Given the description of an element on the screen output the (x, y) to click on. 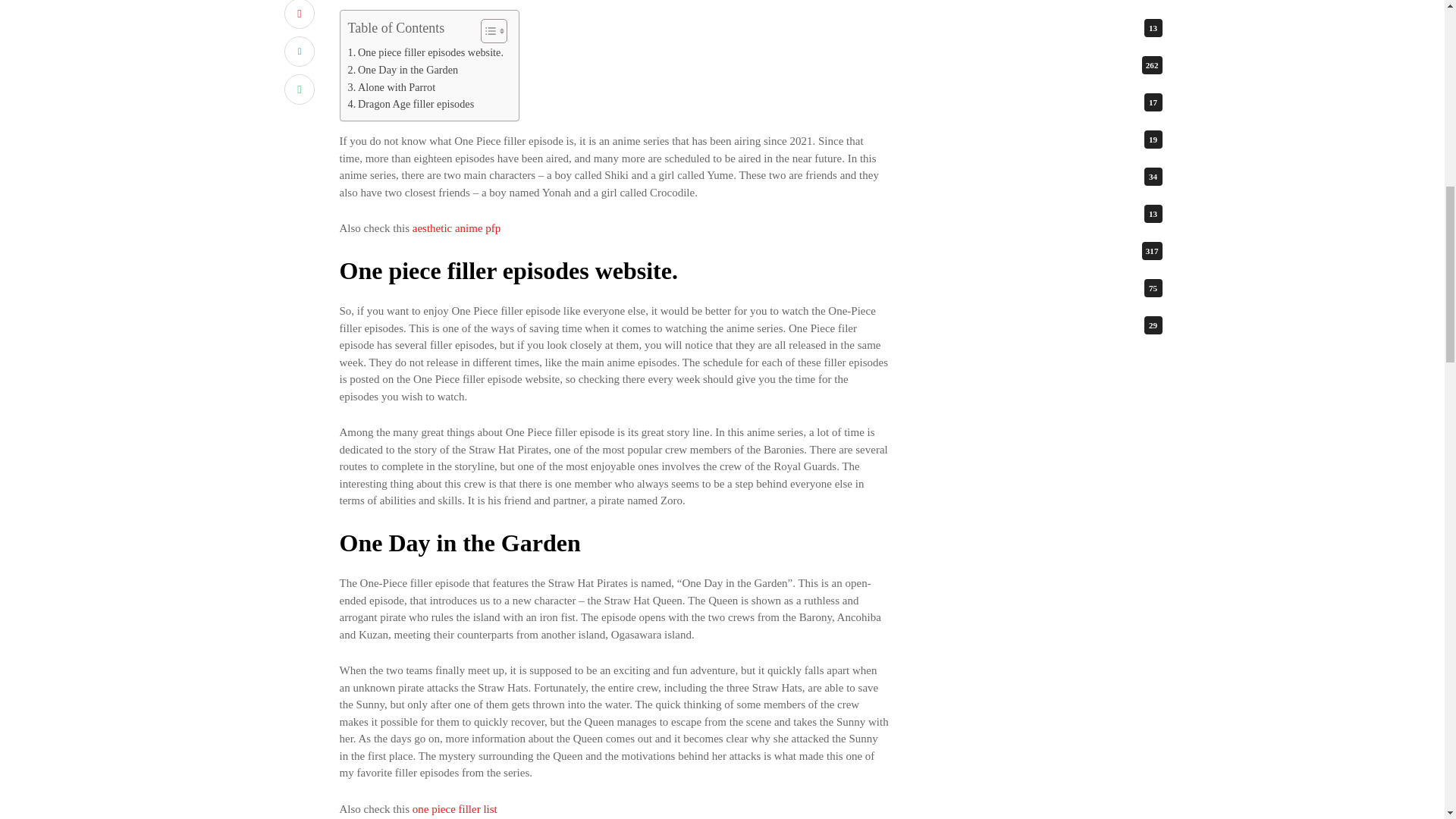
Alone with Parrot (391, 87)
Dragon Age filler episodes (410, 104)
One piece filler episodes website. (424, 52)
One Day in the Garden (402, 69)
